Given the description of an element on the screen output the (x, y) to click on. 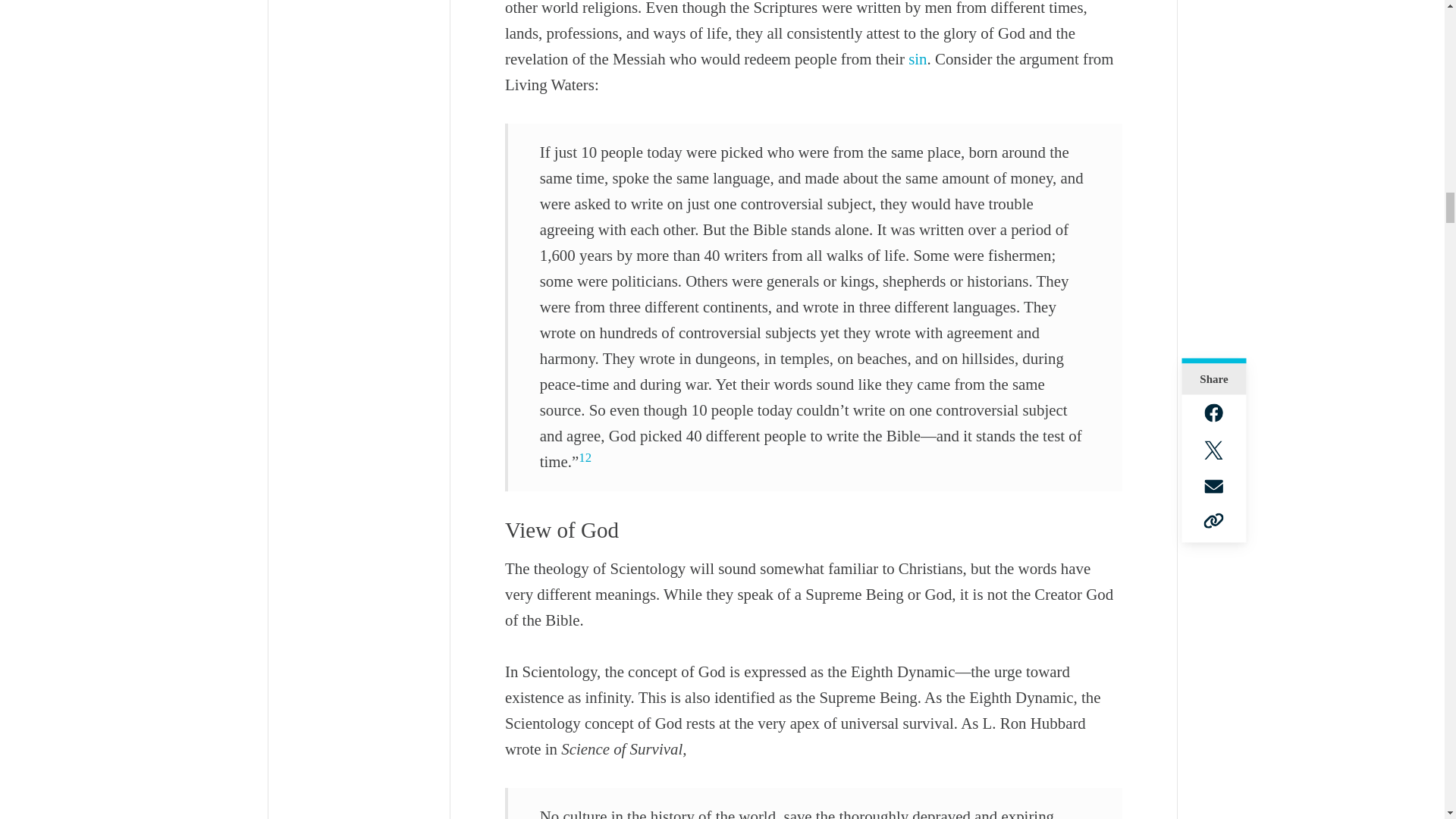
Footnote 12 (584, 457)
